Given the description of an element on the screen output the (x, y) to click on. 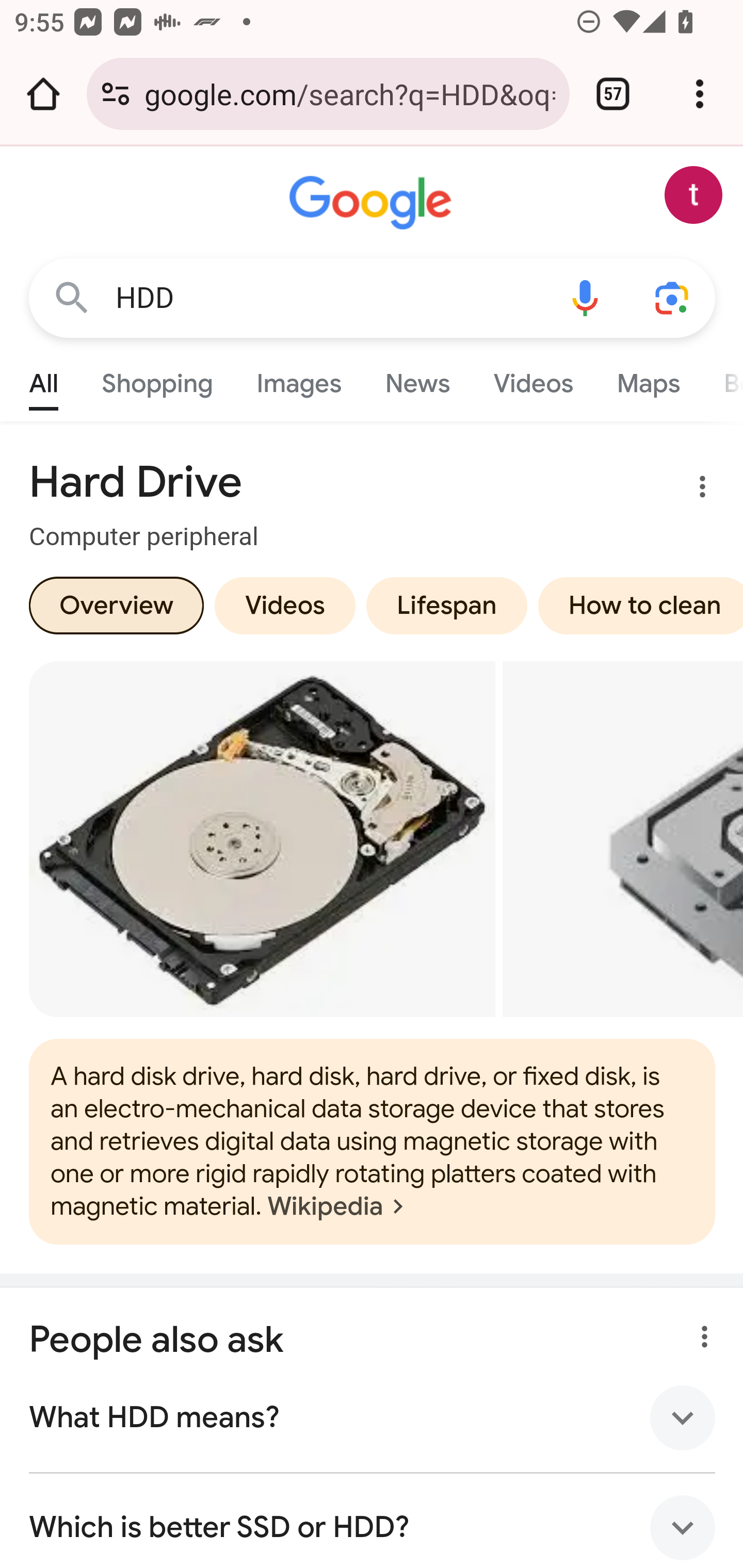
Open the home page (43, 93)
Connection is secure (115, 93)
Switch or close tabs (612, 93)
Customize and control Google Chrome (699, 93)
Google (372, 203)
Google Search (71, 296)
Search using your camera or photos (672, 296)
HDD (328, 297)
Shopping (157, 378)
Images (299, 378)
News (417, 378)
Videos (533, 378)
Maps (647, 378)
More options (690, 489)
Overview (116, 605)
Videos (284, 605)
Lifespan (446, 605)
How to clean (637, 605)
Hard disk drive - Wikipedia (262, 838)
Hard_disk_drive (372, 1141)
About this result (698, 1331)
What HDD means? (372, 1417)
Which is better SSD or HDD? (372, 1520)
